Given the description of an element on the screen output the (x, y) to click on. 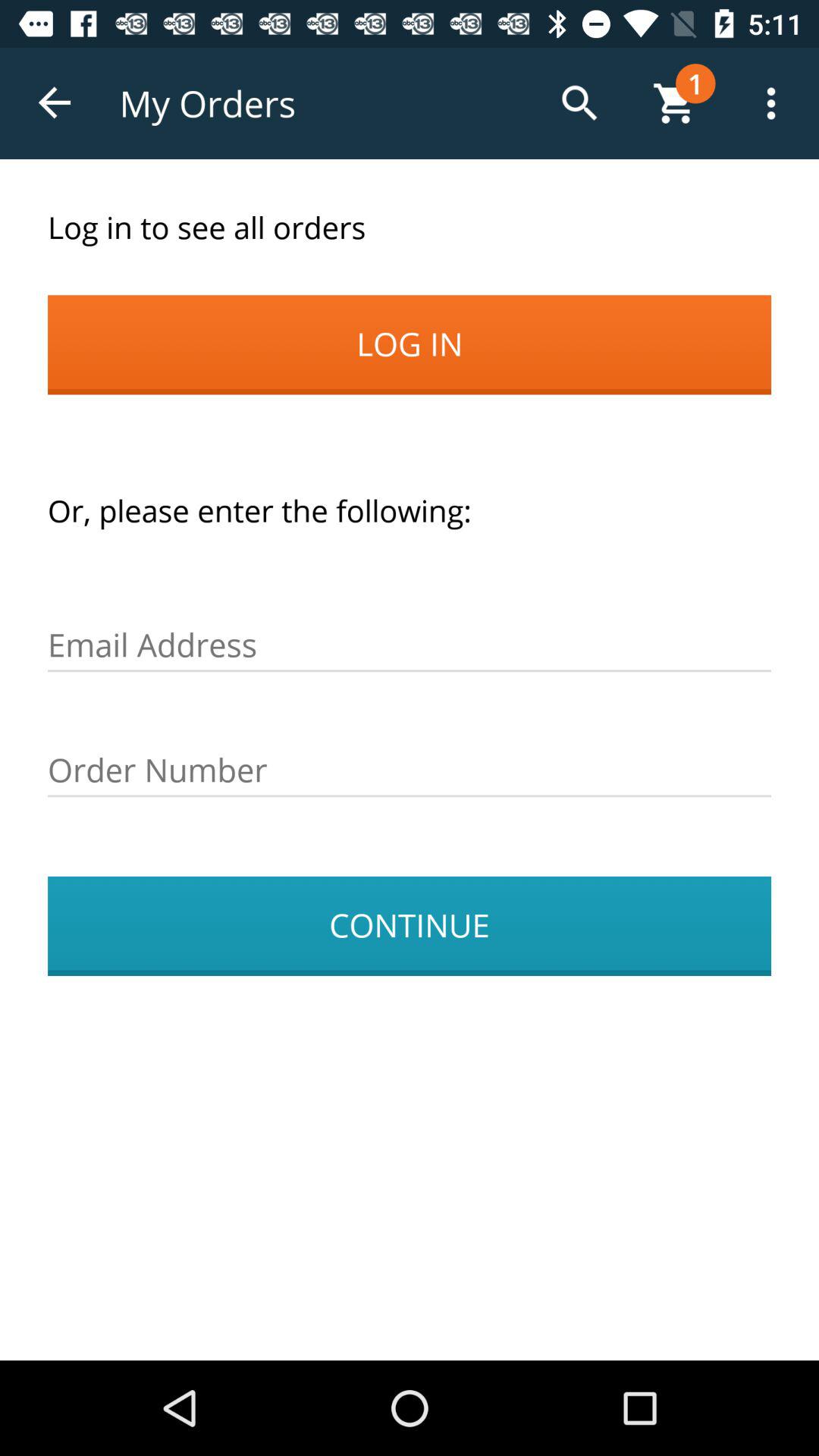
turn on app next to the my orders app (55, 103)
